Given the description of an element on the screen output the (x, y) to click on. 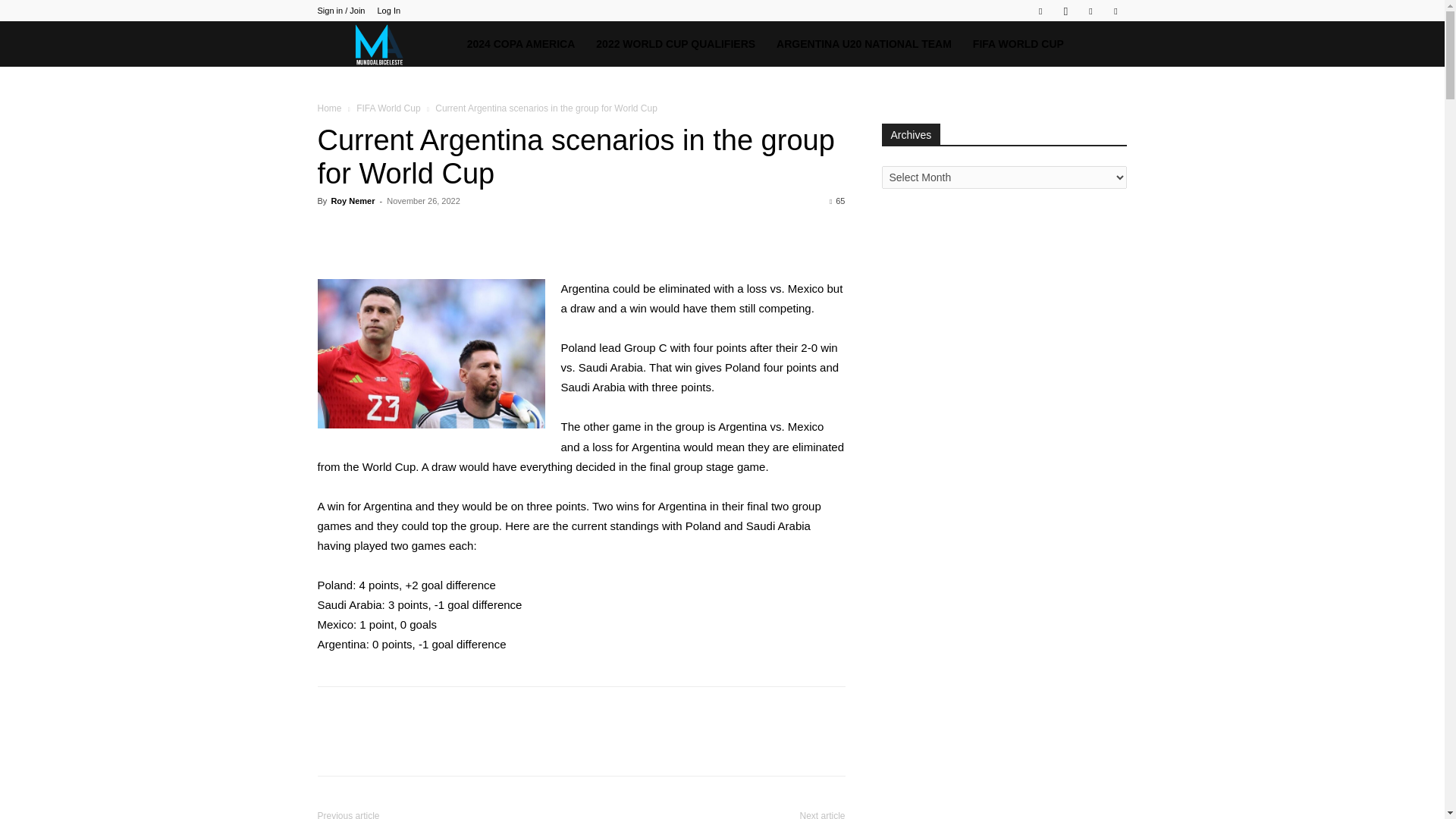
View all posts in FIFA World Cup (388, 108)
Home (328, 108)
2022 WORLD CUP QUALIFIERS (675, 43)
FIFA WORLD CUP (1018, 43)
Roy Nemer (352, 200)
Instagram (1065, 10)
2024 COPA AMERICA (521, 43)
Log In (388, 10)
ARGENTINA U20 NATIONAL TEAM (863, 43)
65 (837, 200)
